Given the description of an element on the screen output the (x, y) to click on. 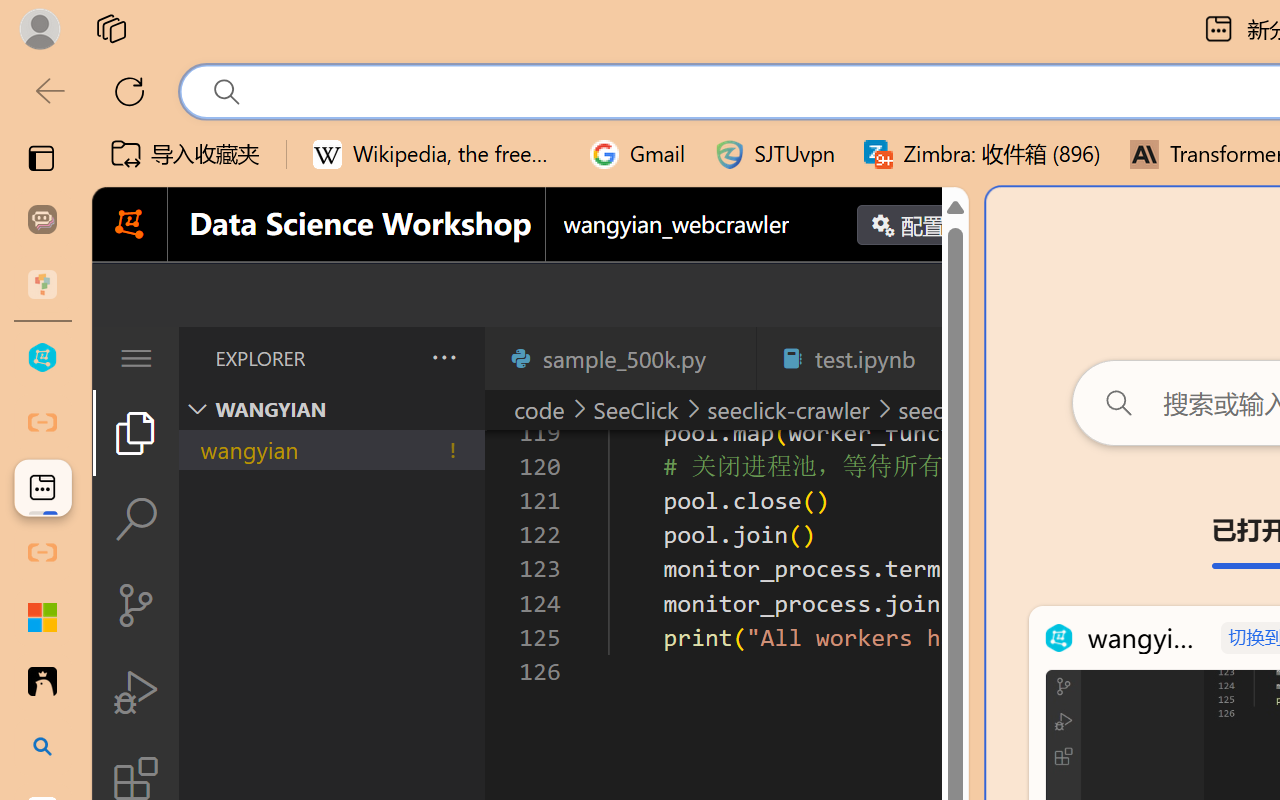
Explorer (Ctrl+Shift+E) (135, 432)
Application Menu (135, 358)
test.ipynb (864, 358)
